Given the description of an element on the screen output the (x, y) to click on. 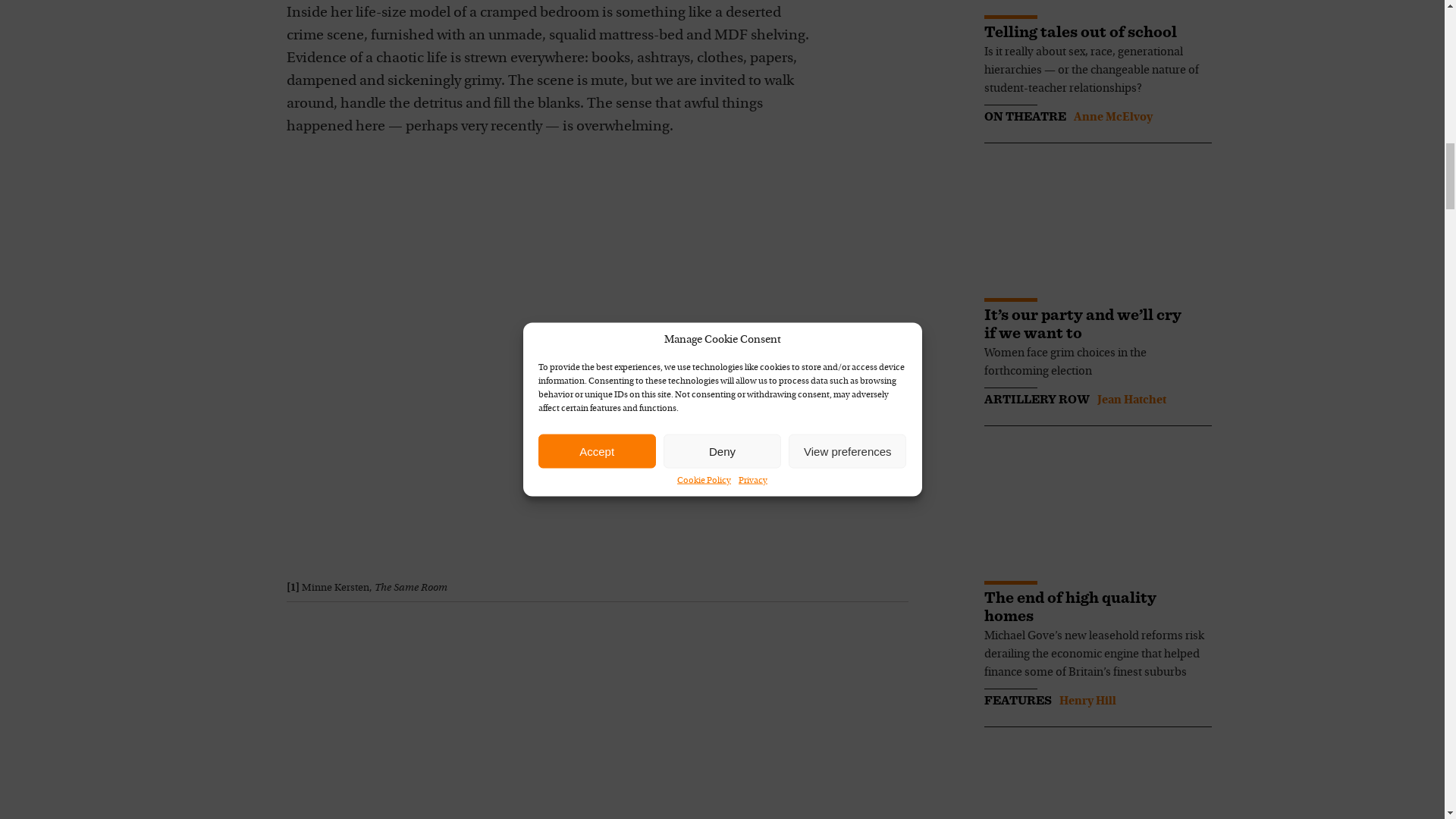
Posts by Henry Hill (1086, 701)
Posts by Anne McElvoy (1113, 117)
Posts by Jean Hatchet (1131, 399)
